Given the description of an element on the screen output the (x, y) to click on. 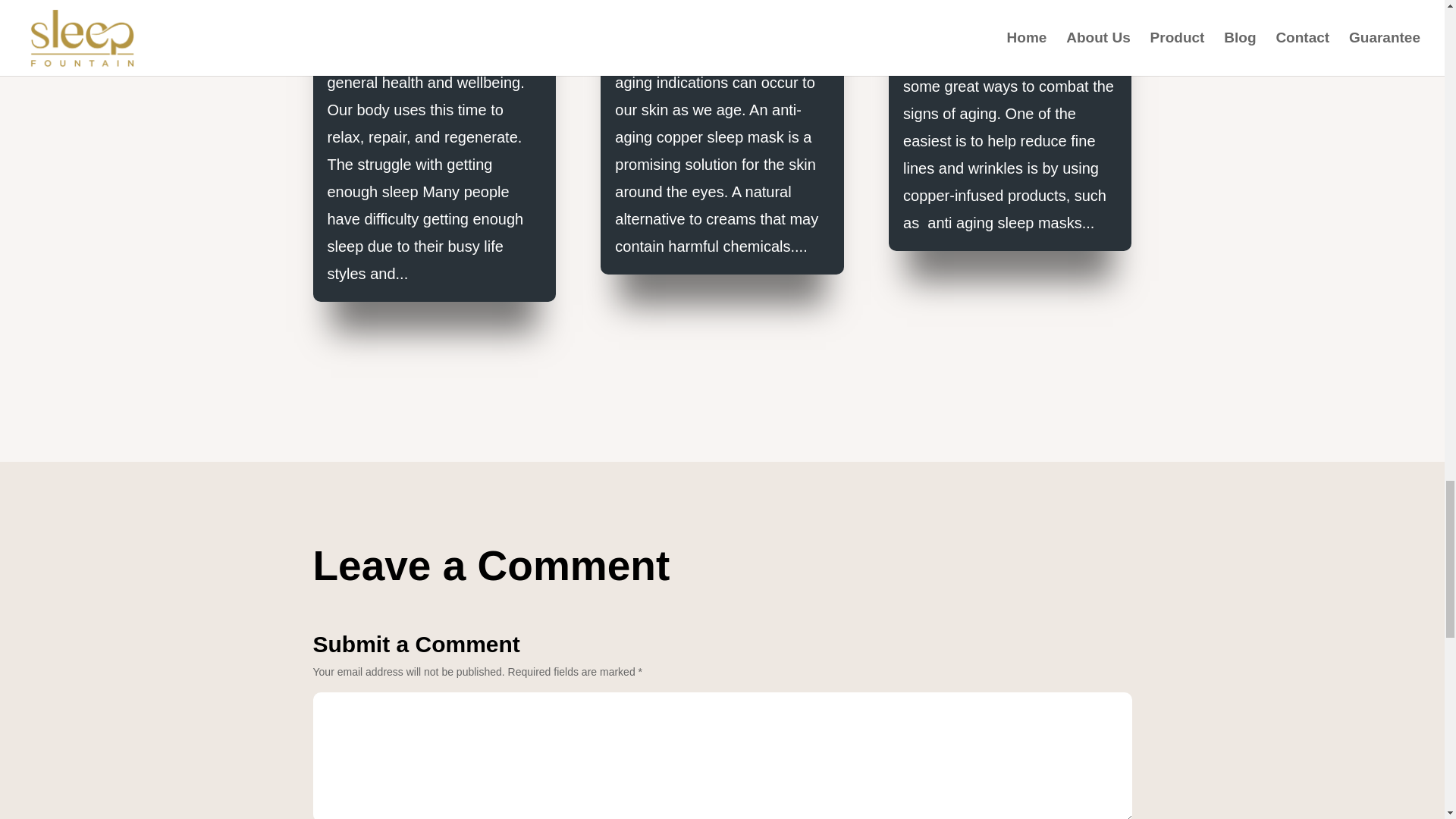
Uncategorized (363, 2)
Uncategorized (650, 2)
